Given the description of an element on the screen output the (x, y) to click on. 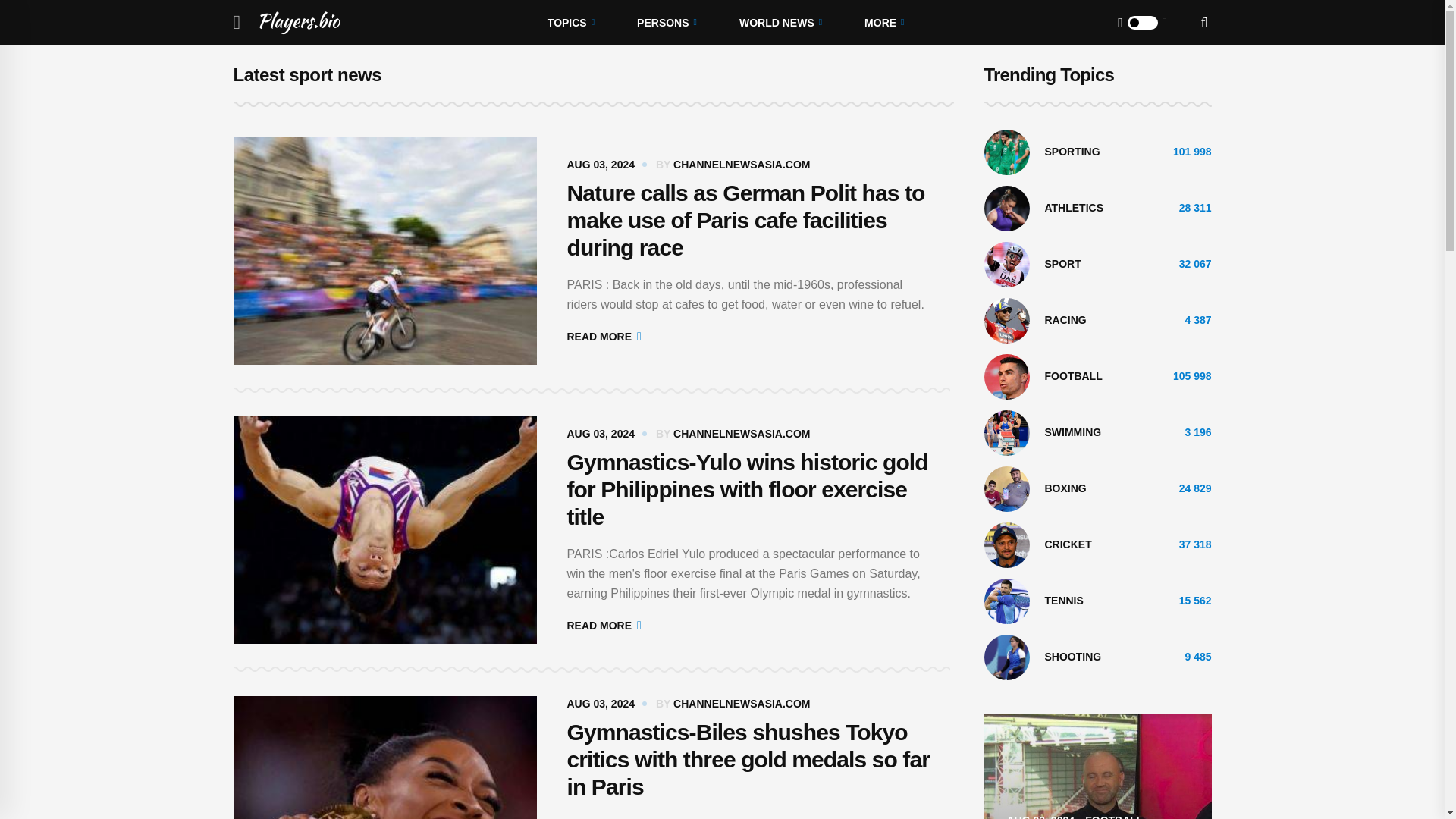
Persons (666, 22)
Topics (570, 22)
WORLD NEWS (780, 22)
MORE (883, 22)
TOPICS (570, 22)
PERSONS (666, 22)
